Given the description of an element on the screen output the (x, y) to click on. 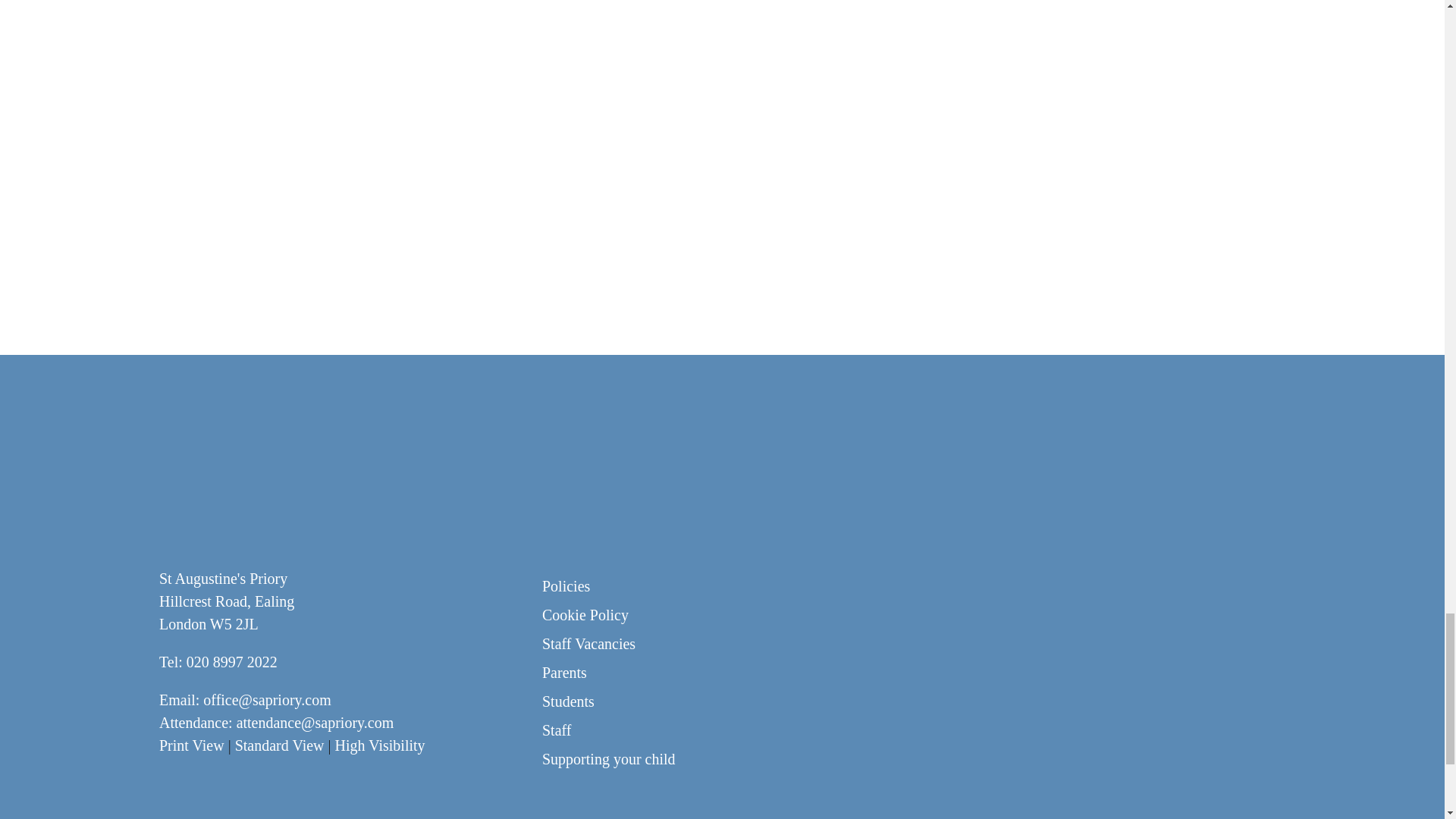
Switch to Standard Visibility (279, 745)
Switch to High Visibility (379, 745)
Switch to Print (191, 745)
